Given the description of an element on the screen output the (x, y) to click on. 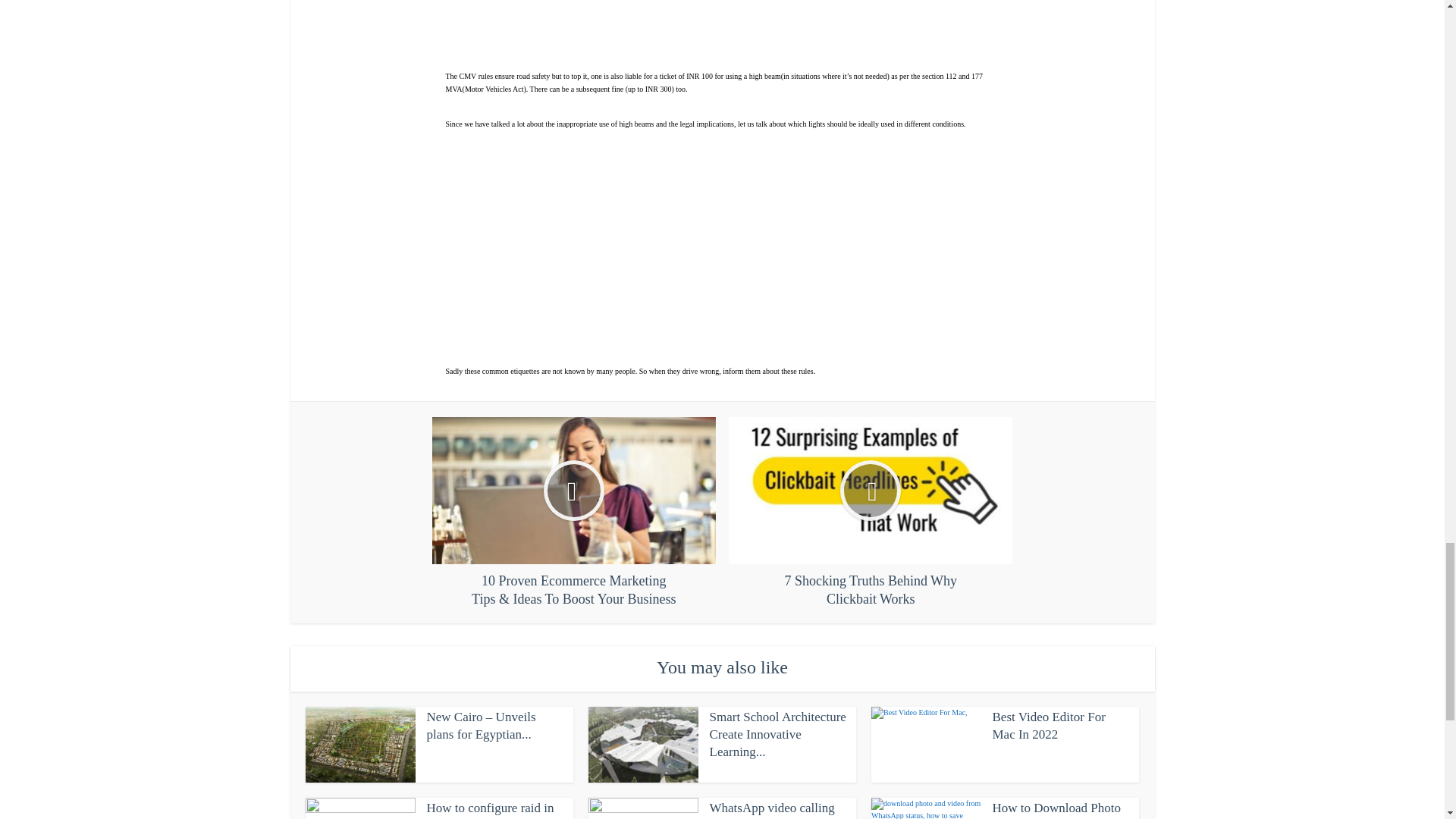
Best Video Editor For Mac In 2022 (1048, 726)
How to configure raid in HP workstation Easy Way (493, 809)
Smart School Architecture Create Innovative Learning... (777, 734)
7 Shocking Truths Behind Why Clickbait Works (870, 512)
Best Video Editor For Mac In 2022 (1048, 726)
